Given the description of an element on the screen output the (x, y) to click on. 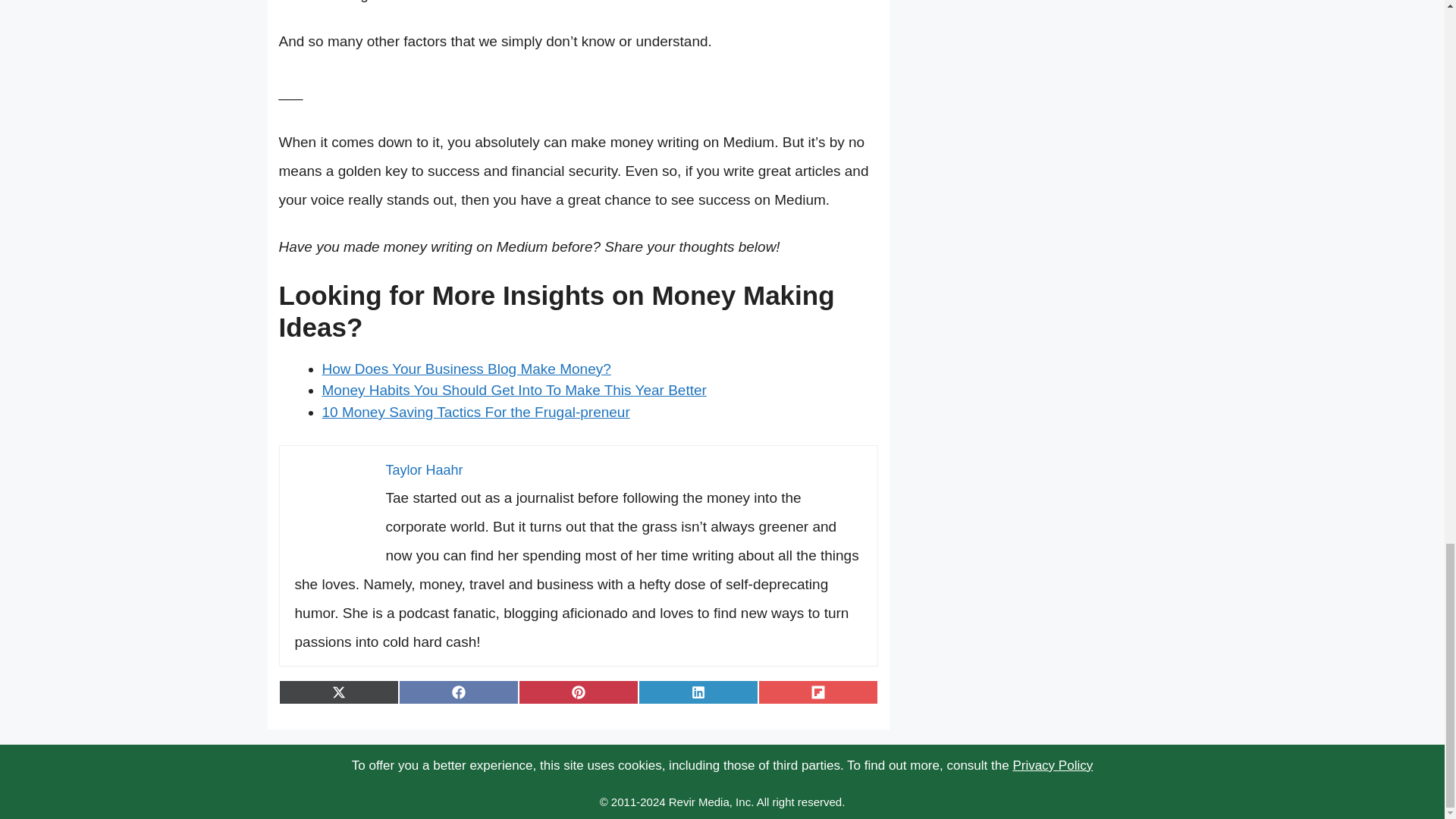
How Does Your Business Blog Make Money? (465, 368)
Share on Flip it (817, 692)
Share on LinkedIn (698, 692)
Taylor Haahr (424, 469)
Share on Pinterest (578, 692)
10 Money Saving Tactics For the Frugal-preneur (474, 412)
Share on Facebook (458, 692)
Money Habits You Should Get Into To Make This Year Better (513, 390)
